Given the description of an element on the screen output the (x, y) to click on. 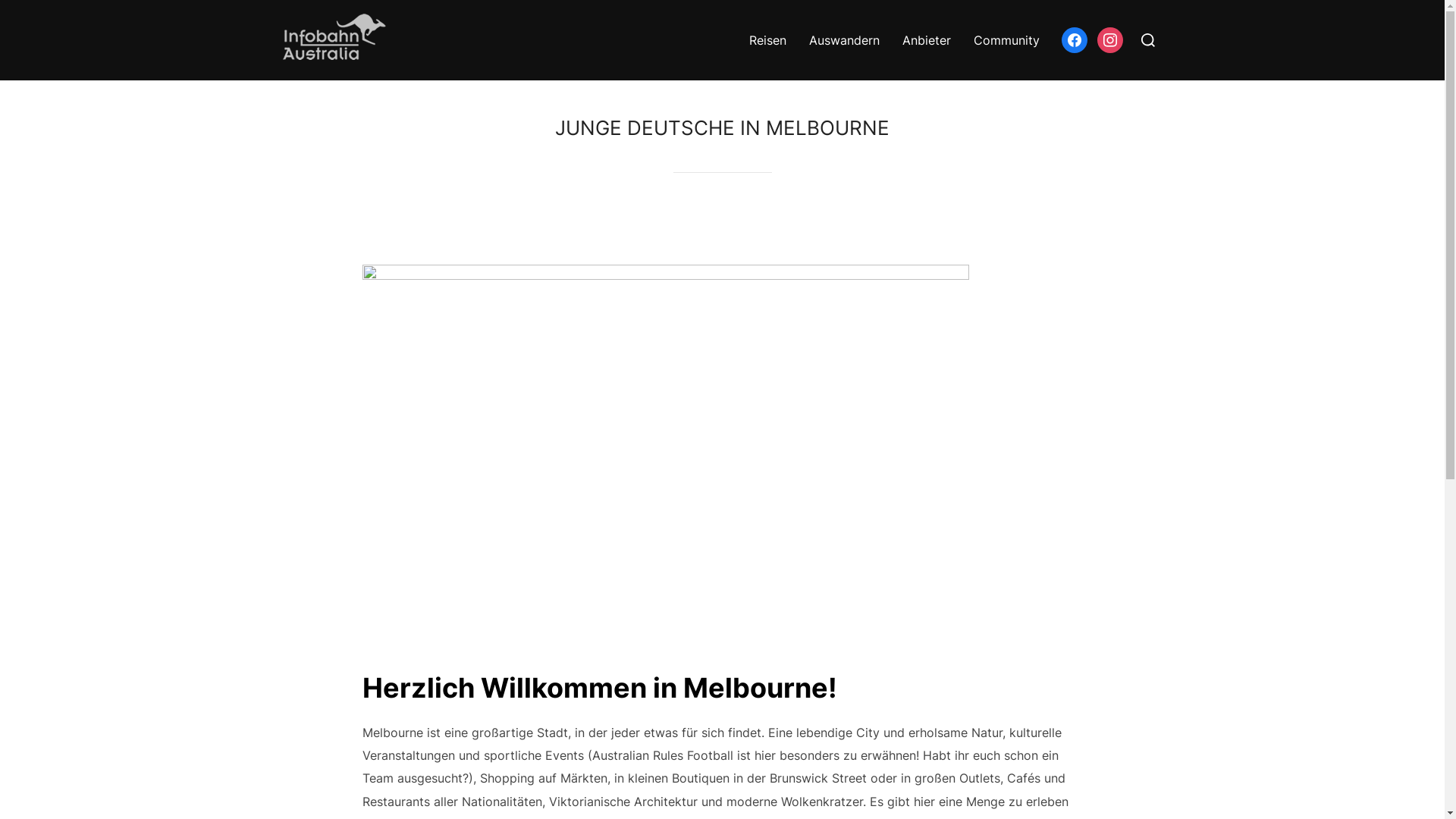
Auswandern Element type: text (843, 39)
Anbieter Element type: text (926, 39)
Community Element type: text (1006, 39)
Reisen Element type: text (767, 39)
instagram Element type: text (1109, 38)
facebook Element type: text (1074, 38)
